Given the description of an element on the screen output the (x, y) to click on. 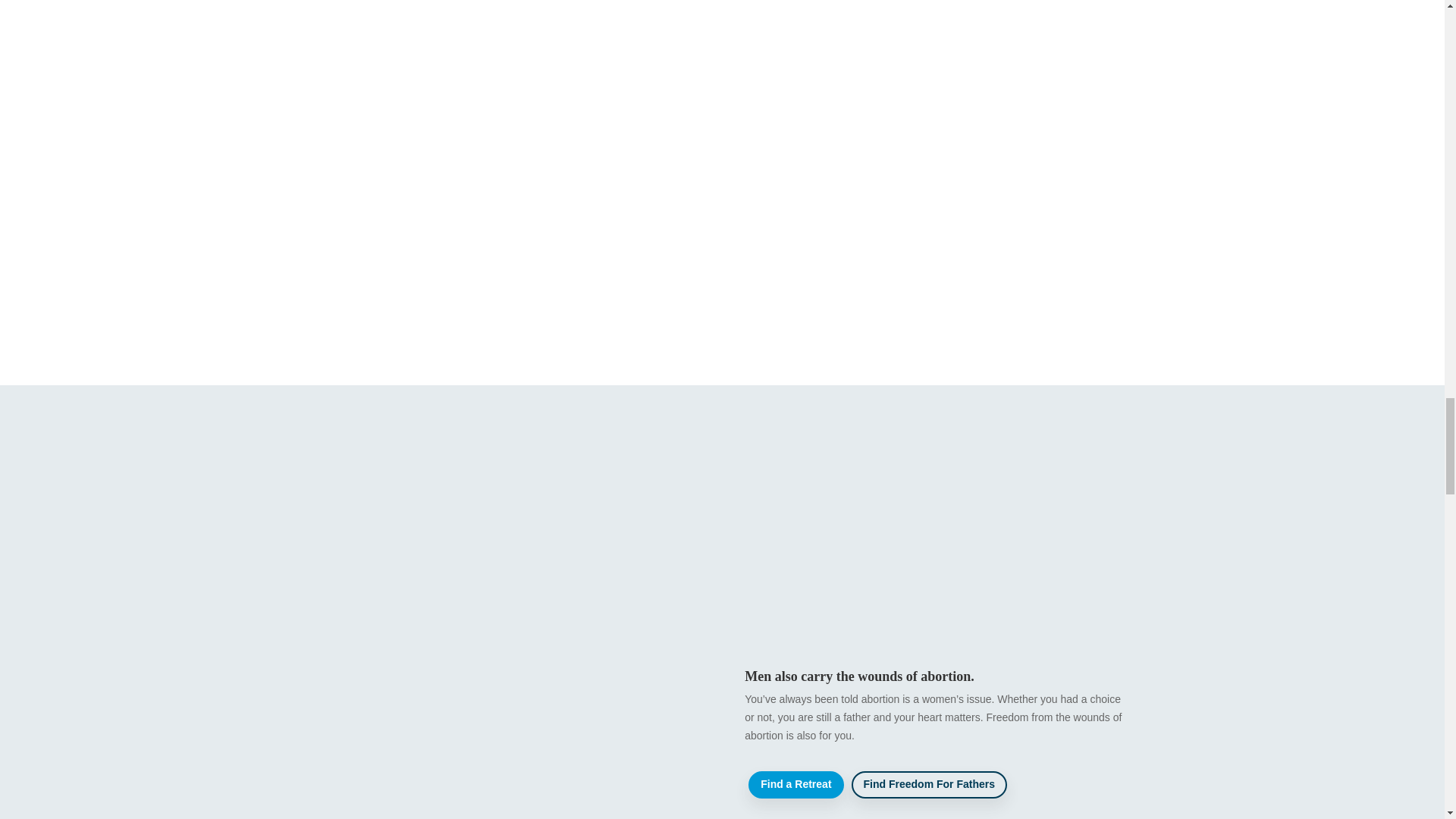
Testimony2.mov (505, 667)
Find Freedom For Fathers (929, 784)
Find a Retreat (795, 784)
